Given the description of an element on the screen output the (x, y) to click on. 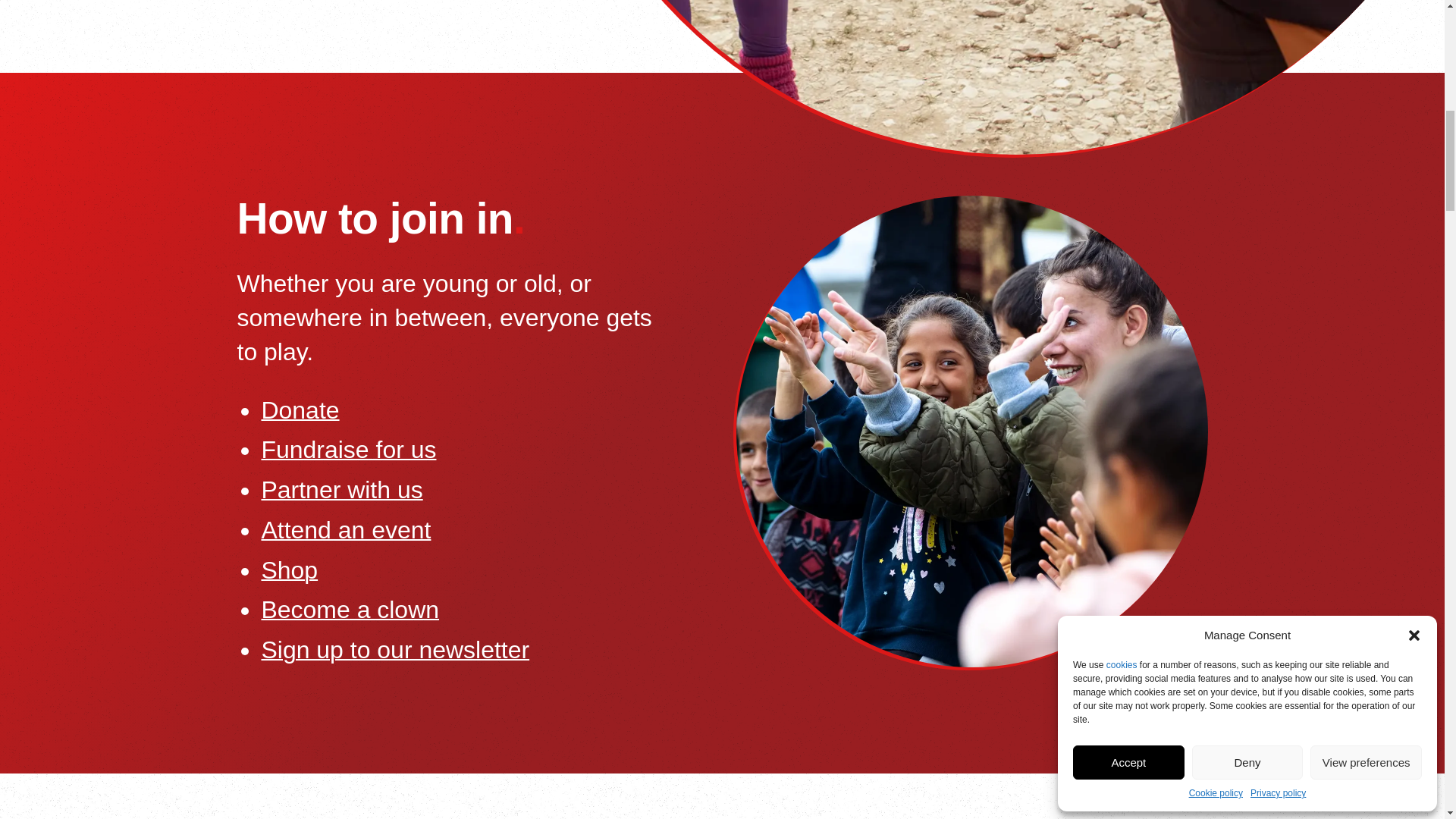
Partner with us (341, 489)
Donate (299, 410)
Fundraise for us (347, 449)
